Given the description of an element on the screen output the (x, y) to click on. 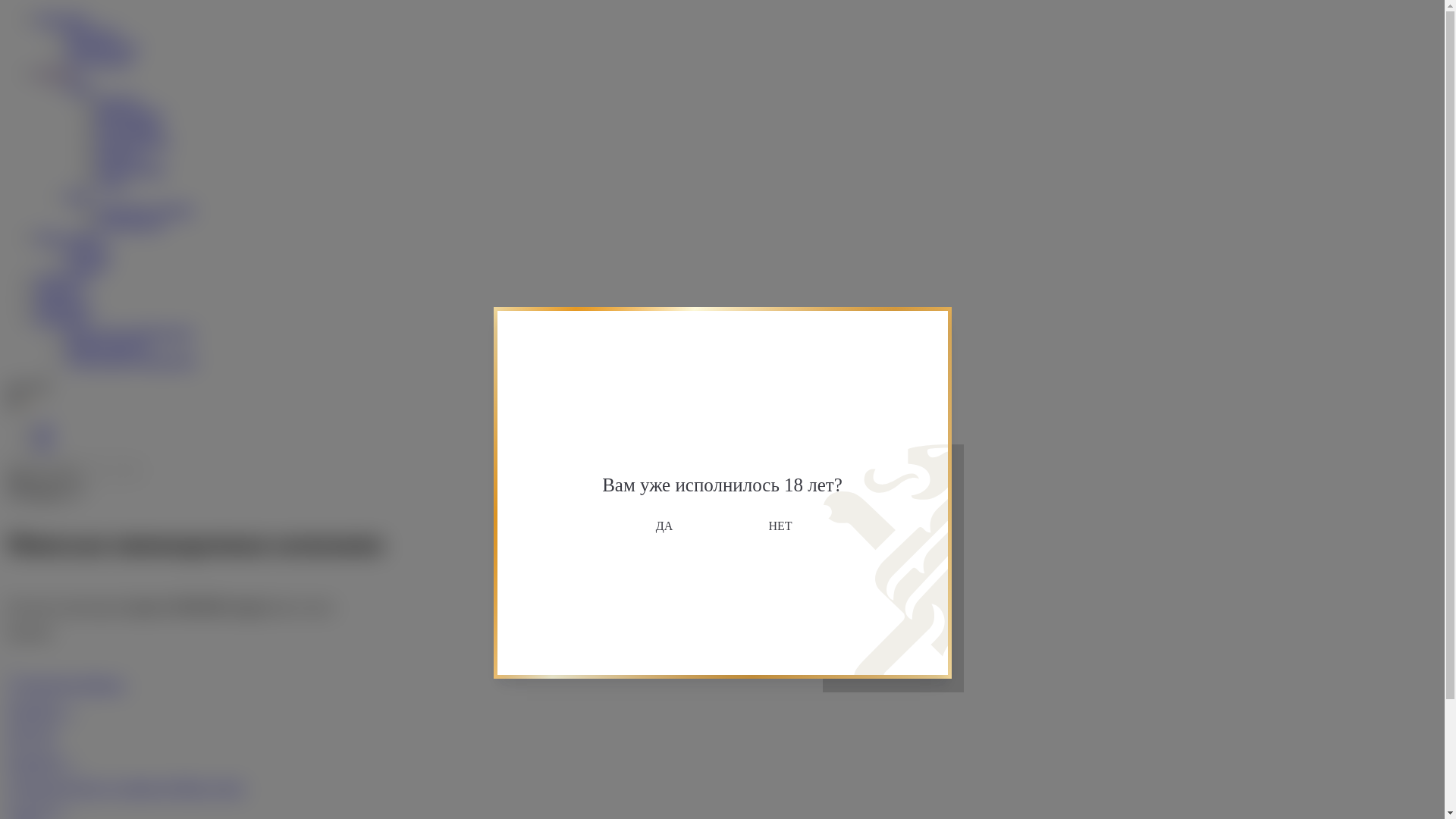
KULT Element type: text (112, 181)
BE URBAN Element type: text (127, 127)
BE Element type: text (43, 442)
CRAFT BEER Element type: text (133, 140)
EN Element type: text (44, 429)
Brauberg Element type: text (119, 154)
Sabro IPA Element type: text (31, 735)
Vesely Sladek Element type: text (131, 168)
